Given the description of an element on the screen output the (x, y) to click on. 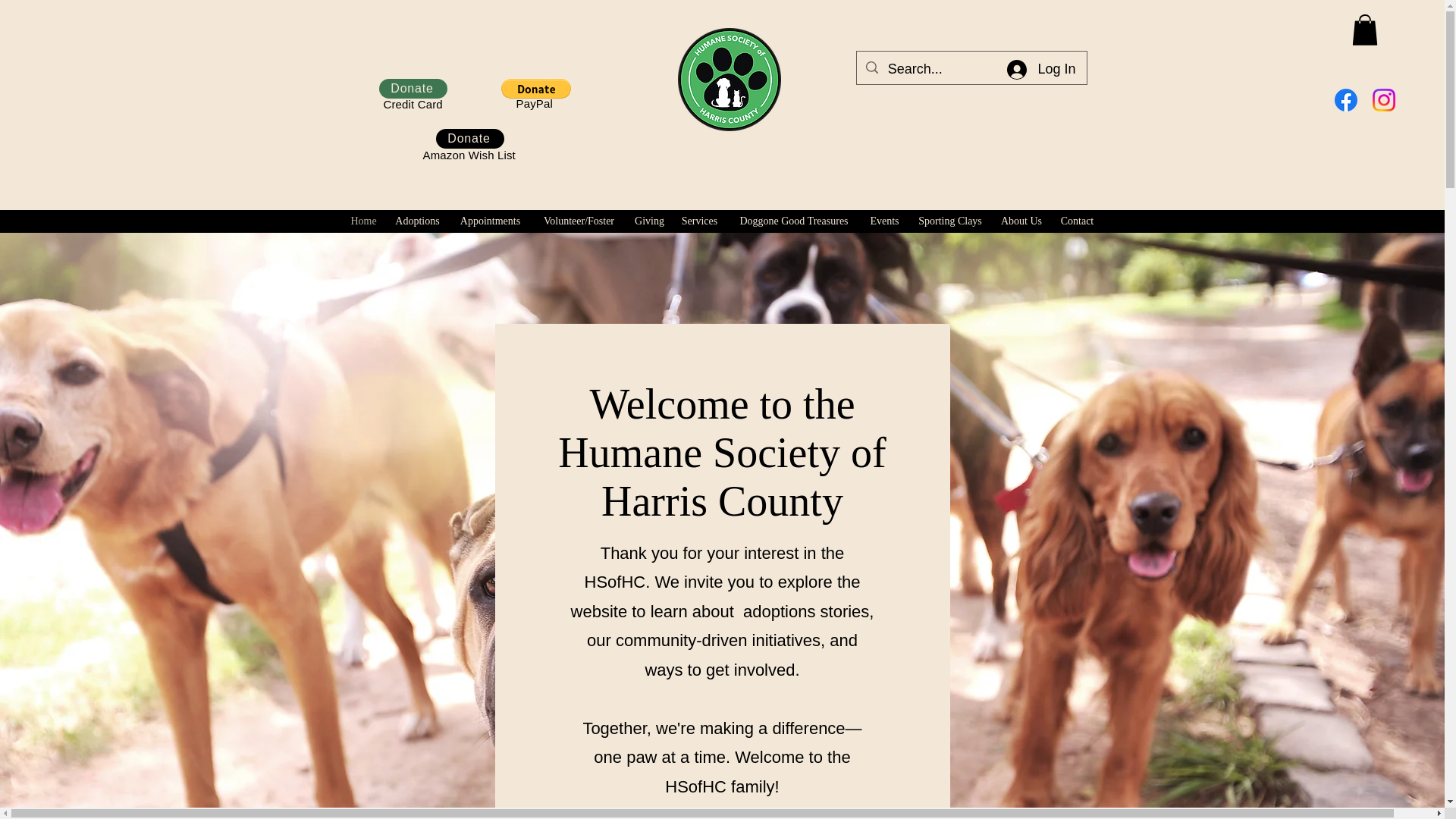
About Us (1020, 220)
Services (698, 220)
Home (362, 220)
Giving (648, 220)
Donate Now (967, 168)
Appointments (489, 220)
Contact (1077, 220)
Donate (412, 88)
Doggone Good Treasures (793, 220)
Sporting Clays (950, 220)
